Given the description of an element on the screen output the (x, y) to click on. 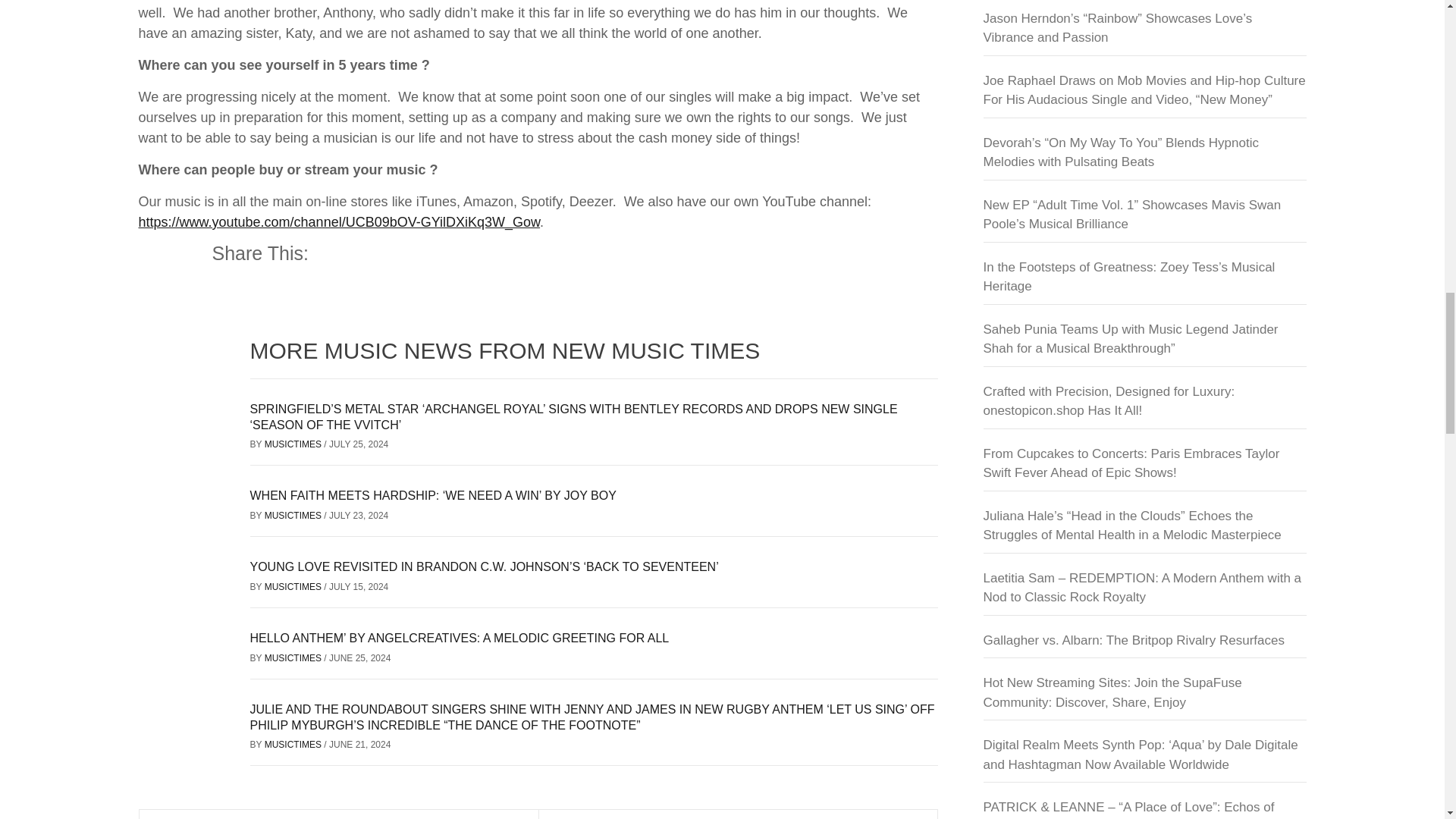
MUSICTIMES (294, 443)
